Given the description of an element on the screen output the (x, y) to click on. 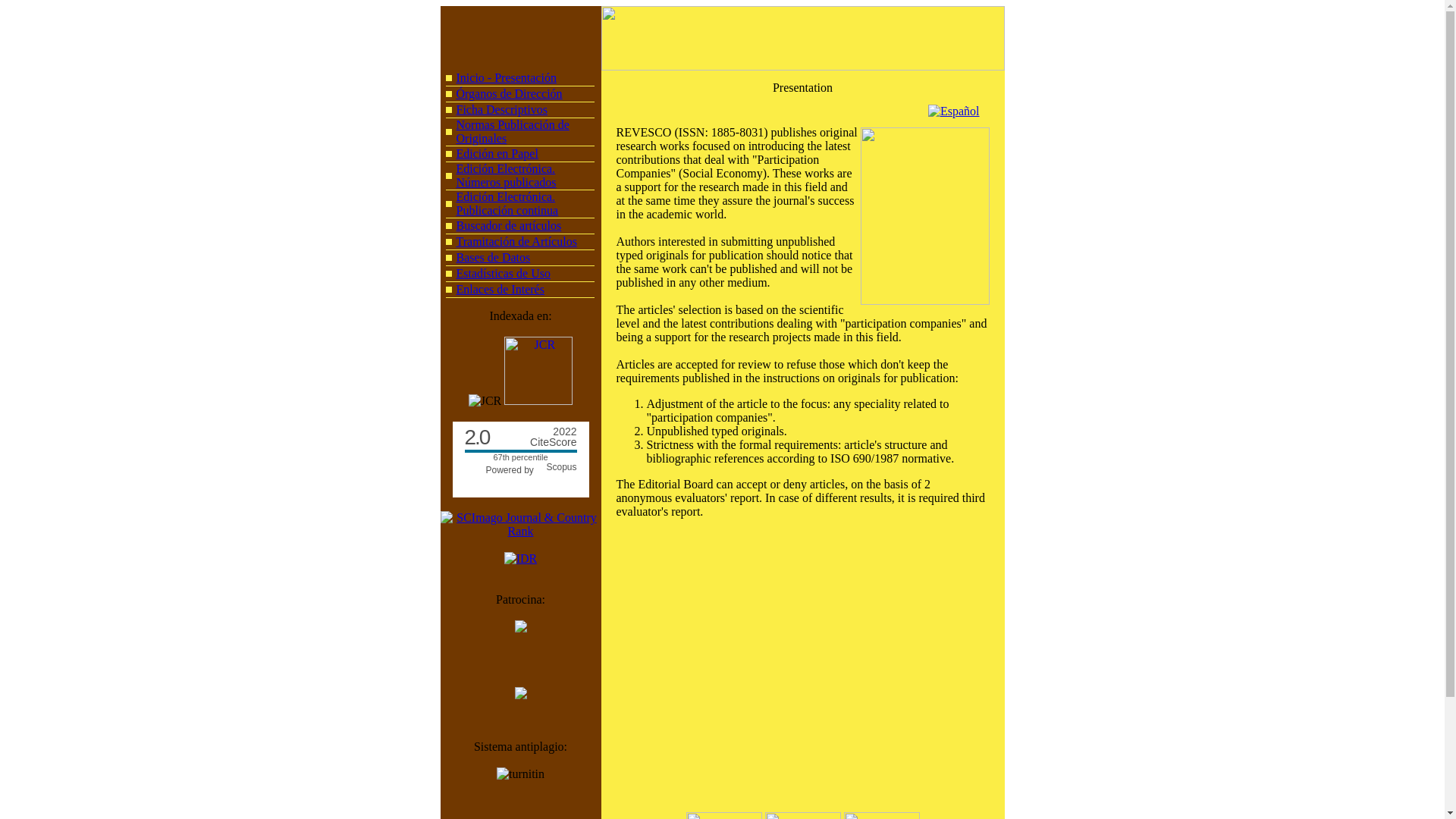
turnitin (520, 774)
JCR (537, 370)
IDR Revista (520, 558)
IDR (520, 558)
Bases de Datos (519, 468)
Ficha Descriptivos (494, 256)
JCR (502, 109)
